Given the description of an element on the screen output the (x, y) to click on. 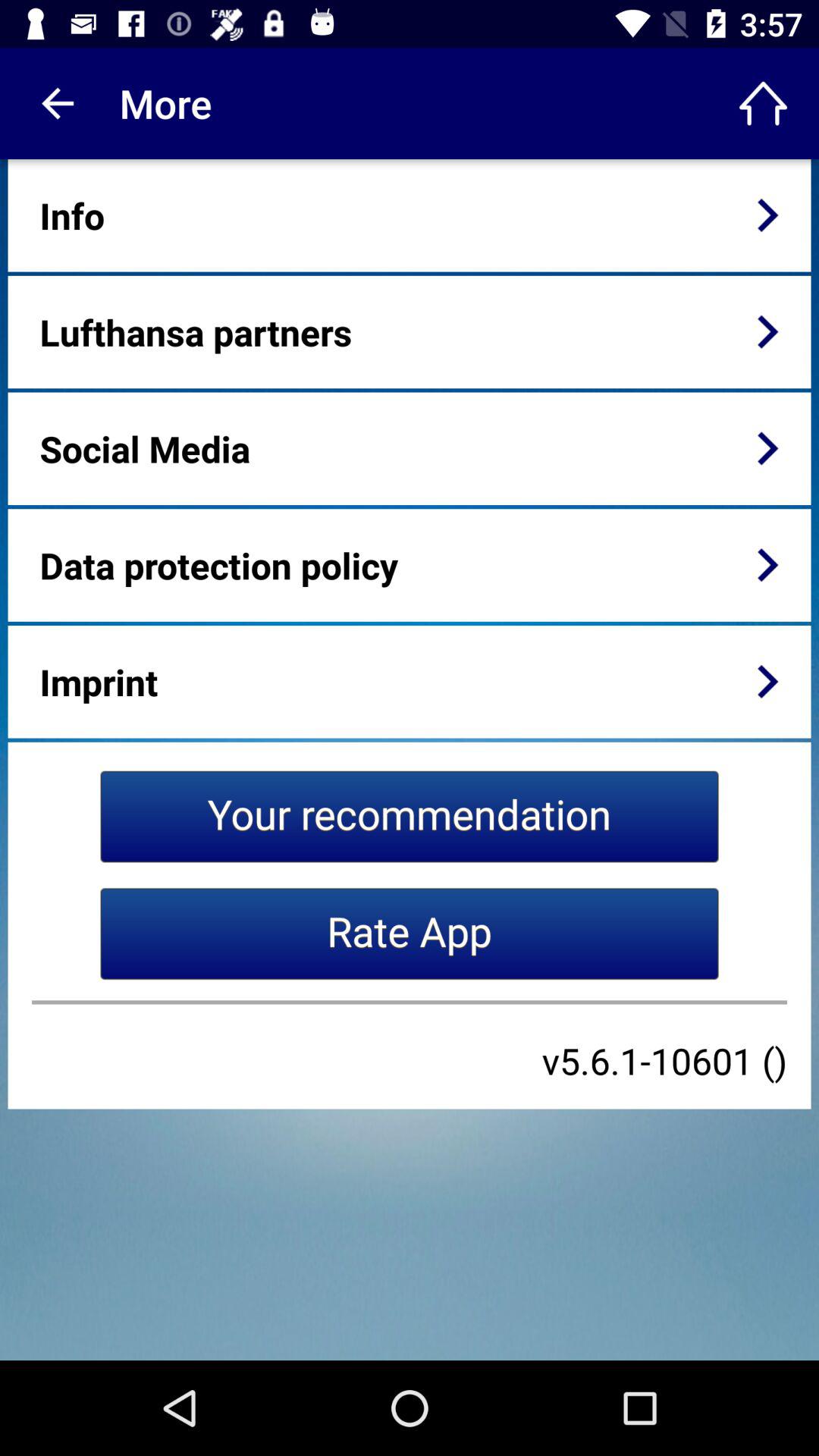
swipe to the info item (71, 215)
